Given the description of an element on the screen output the (x, y) to click on. 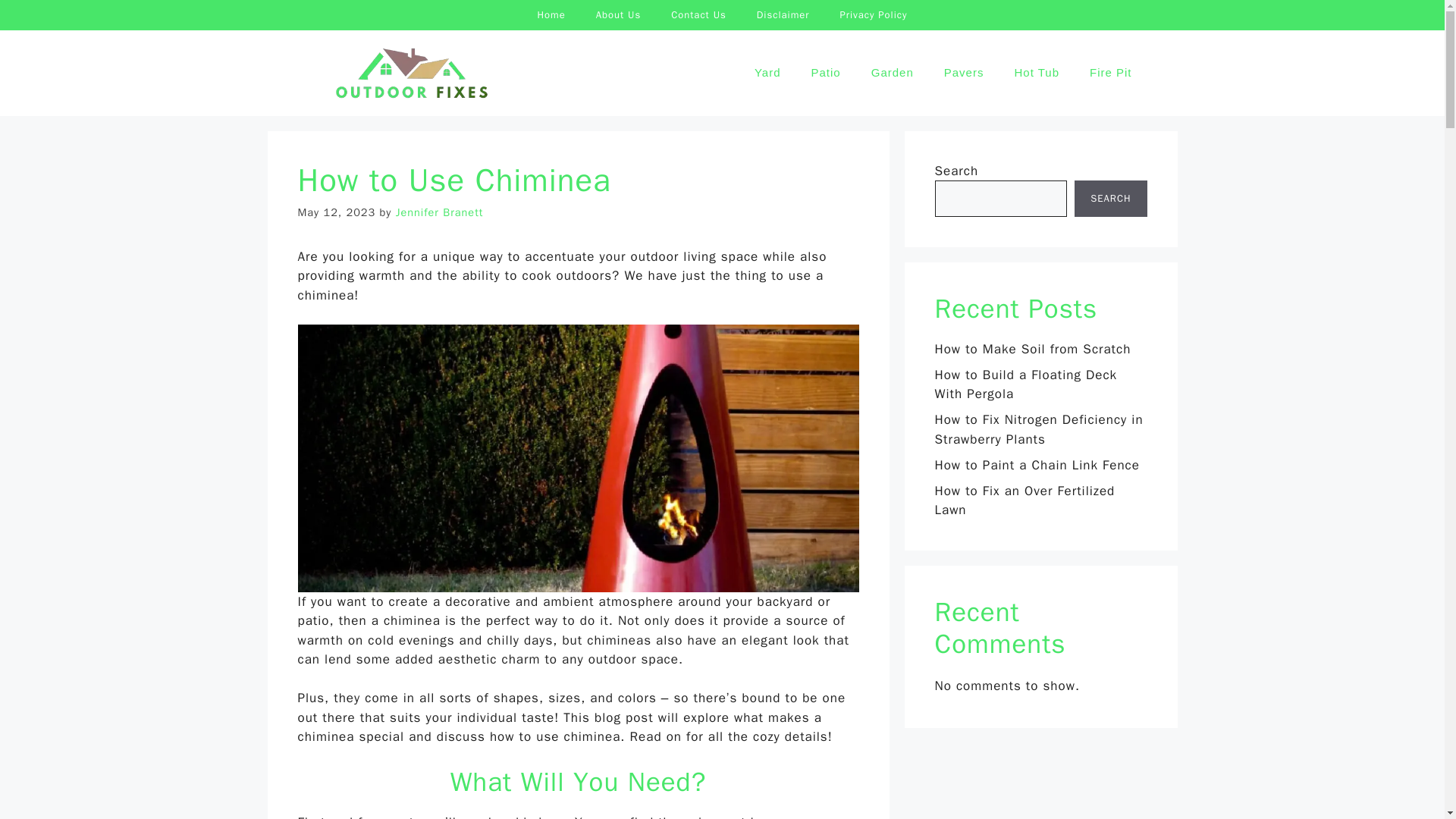
Patio (826, 72)
How to Make Soil from Scratch (1032, 349)
How to Build a Floating Deck With Pergola (1025, 384)
Yard (767, 72)
Jennifer Branett (439, 212)
Contact Us (698, 15)
Home (550, 15)
Fire Pit (1110, 72)
How to Paint a Chain Link Fence (1036, 465)
About Us (618, 15)
